Given the description of an element on the screen output the (x, y) to click on. 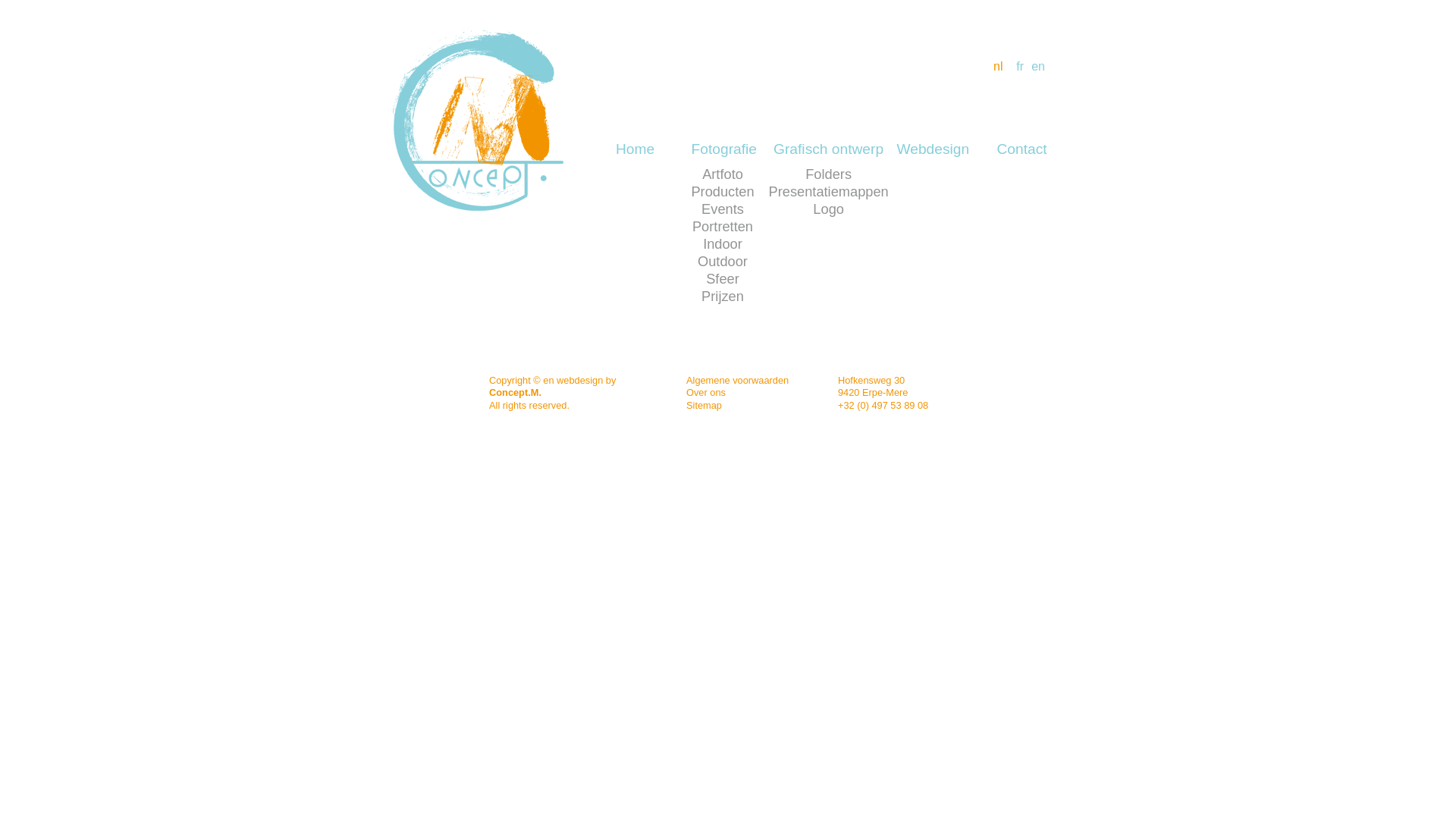
Fotografie Element type: text (723, 148)
Contact Element type: text (1021, 148)
en Element type: text (1033, 66)
Prijzen Element type: text (721, 296)
Producten Element type: text (721, 191)
Presentatiemappen Element type: text (828, 191)
Outdoor Element type: text (721, 261)
Portretten Element type: text (721, 226)
Folders Element type: text (828, 173)
Grafisch ontwerp Element type: text (828, 148)
Logo Element type: text (828, 208)
Webdesign Element type: text (932, 148)
Sitemap Element type: text (703, 405)
Sfeer Element type: text (721, 278)
Concept.M Element type: hover (477, 120)
Over ons Element type: text (705, 392)
Events Element type: text (721, 208)
Home Element type: text (634, 148)
Artfoto Element type: text (721, 173)
fr Element type: text (1012, 66)
nl Element type: text (992, 66)
Algemene voorwaarden Element type: text (737, 379)
Indoor Element type: text (721, 243)
